Given the description of an element on the screen output the (x, y) to click on. 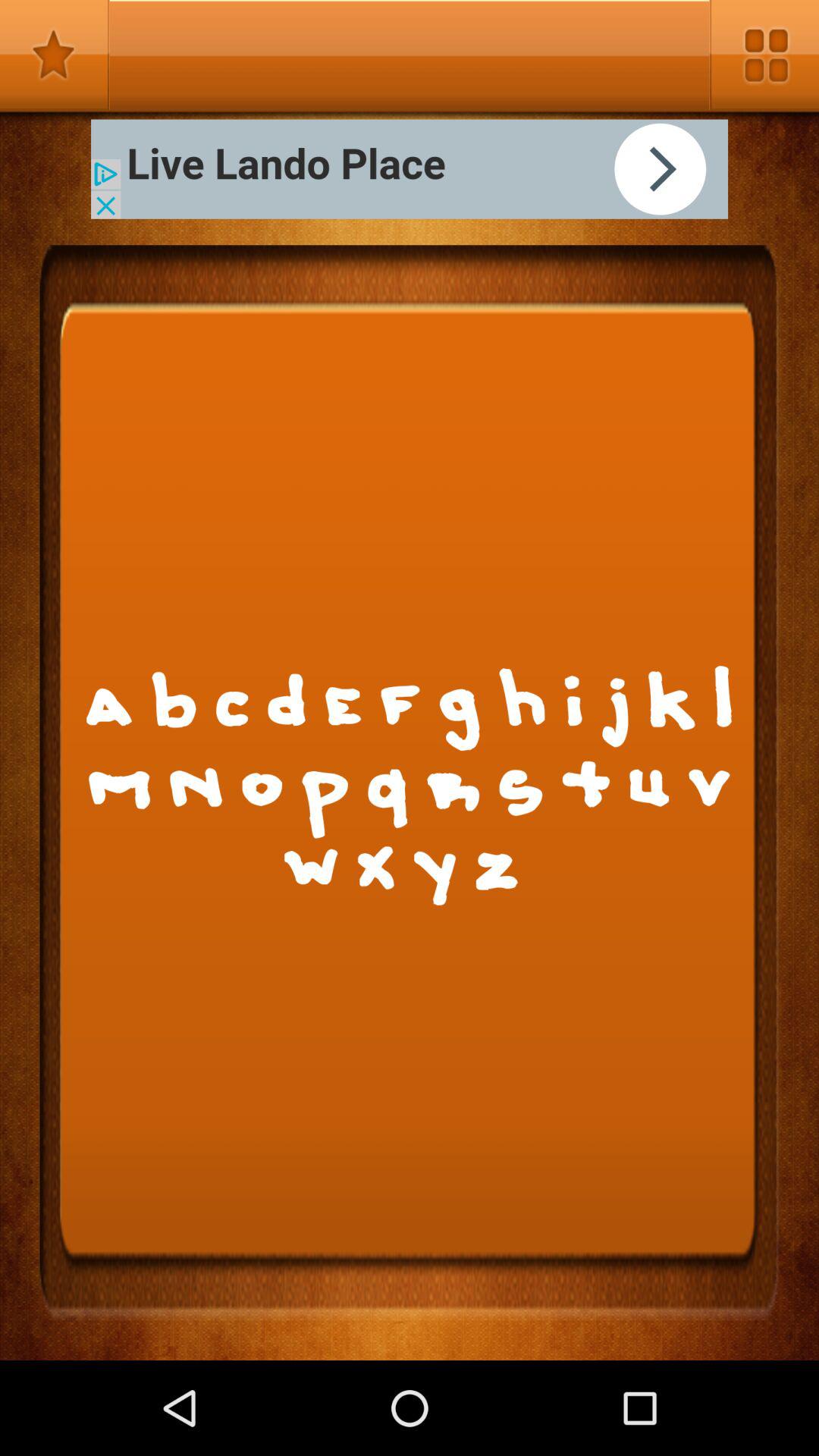
it is a star key (54, 54)
